Given the description of an element on the screen output the (x, y) to click on. 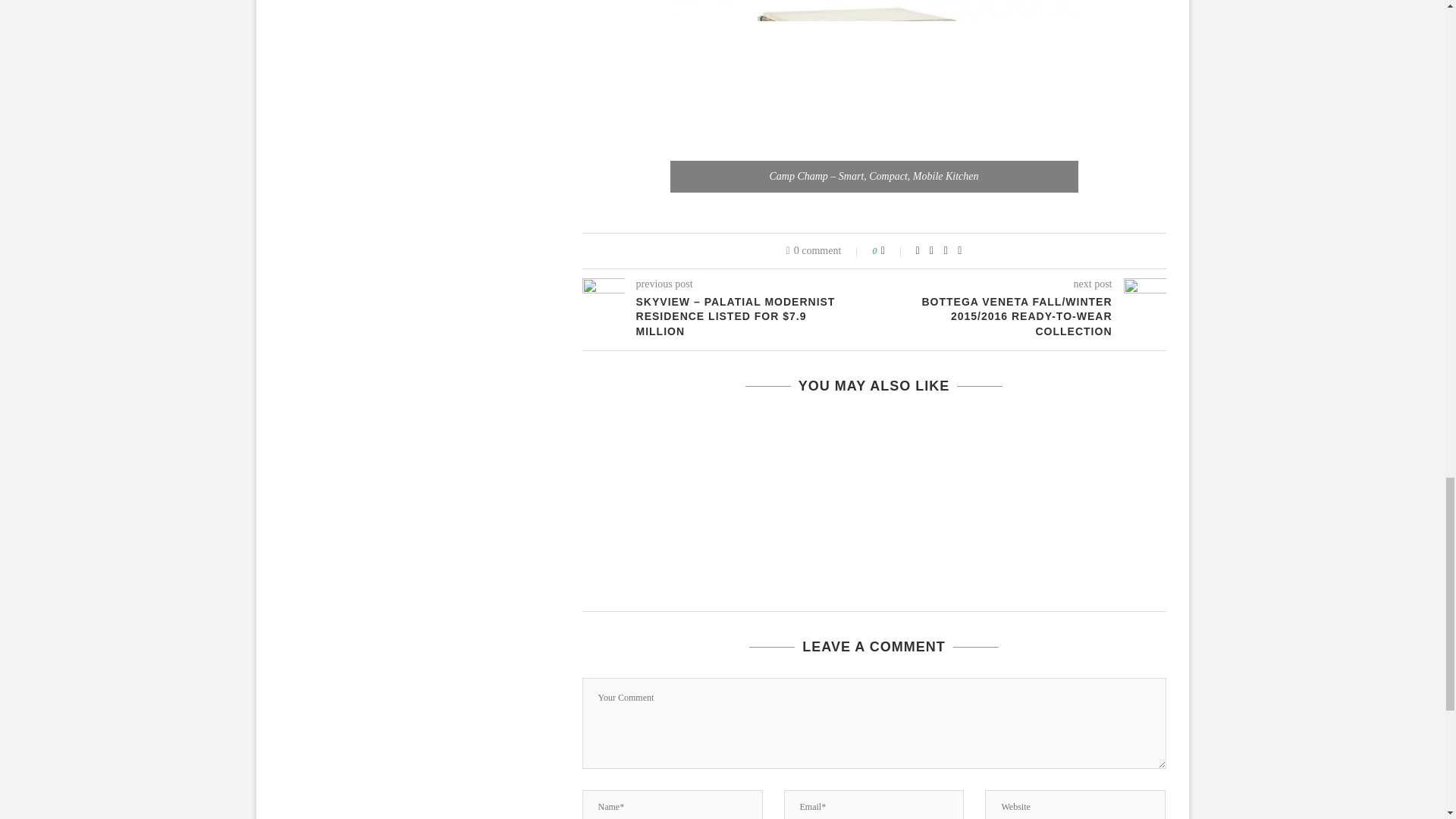
Like (892, 250)
